Given the description of an element on the screen output the (x, y) to click on. 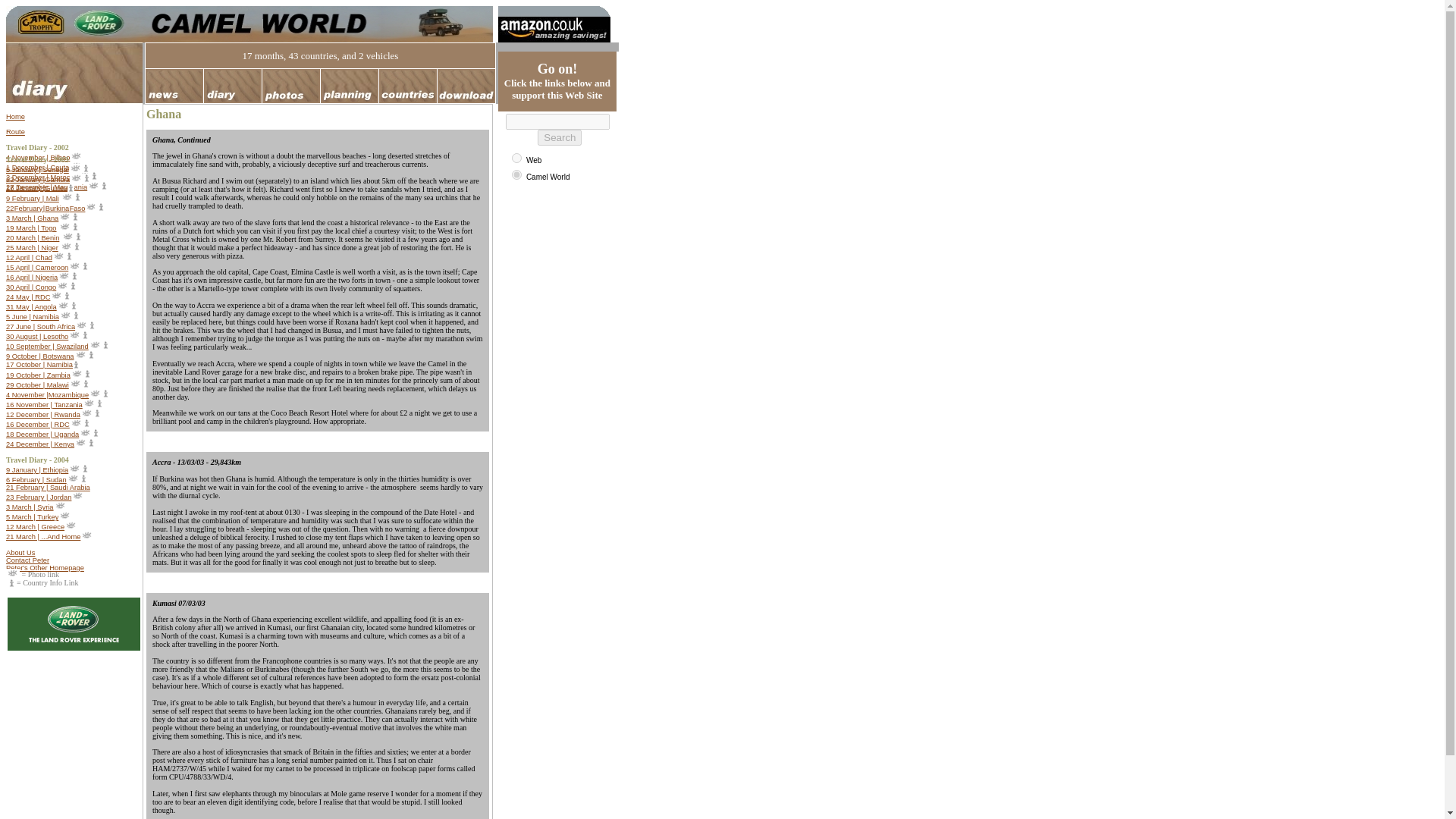
See the Photos (75, 167)
See the Photos (75, 169)
See the Photos (64, 227)
See the Photos (75, 157)
www.camelworld.com (516, 174)
See the Photos (90, 208)
See the Photos (67, 198)
See the Photos (64, 217)
Route (14, 131)
Search (558, 137)
See the Photos (83, 176)
See the Photos (93, 186)
Home (14, 116)
Search (558, 137)
See the Photos (75, 179)
